Given the description of an element on the screen output the (x, y) to click on. 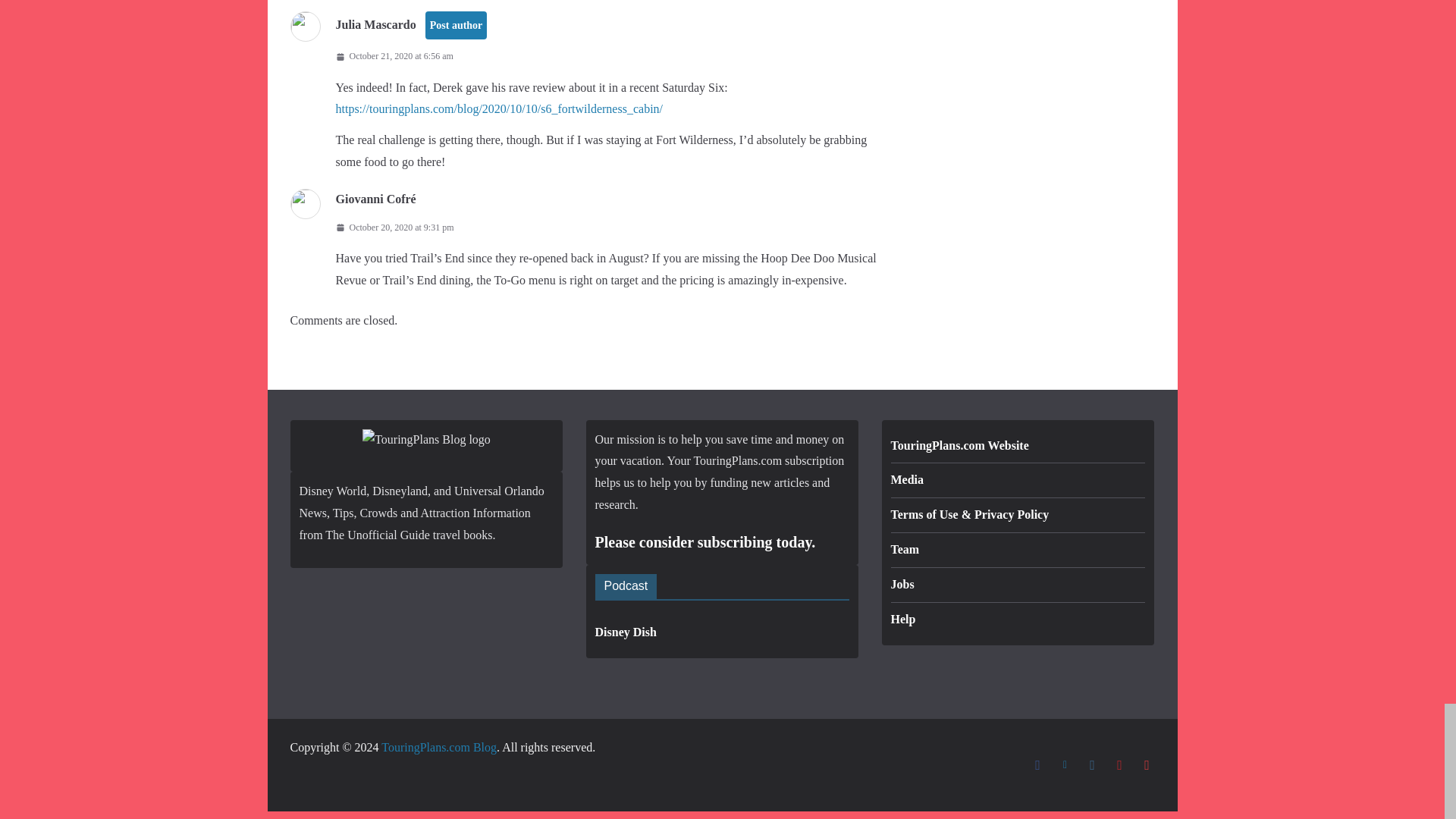
TouringPlans.com Blog (438, 747)
